Given the description of an element on the screen output the (x, y) to click on. 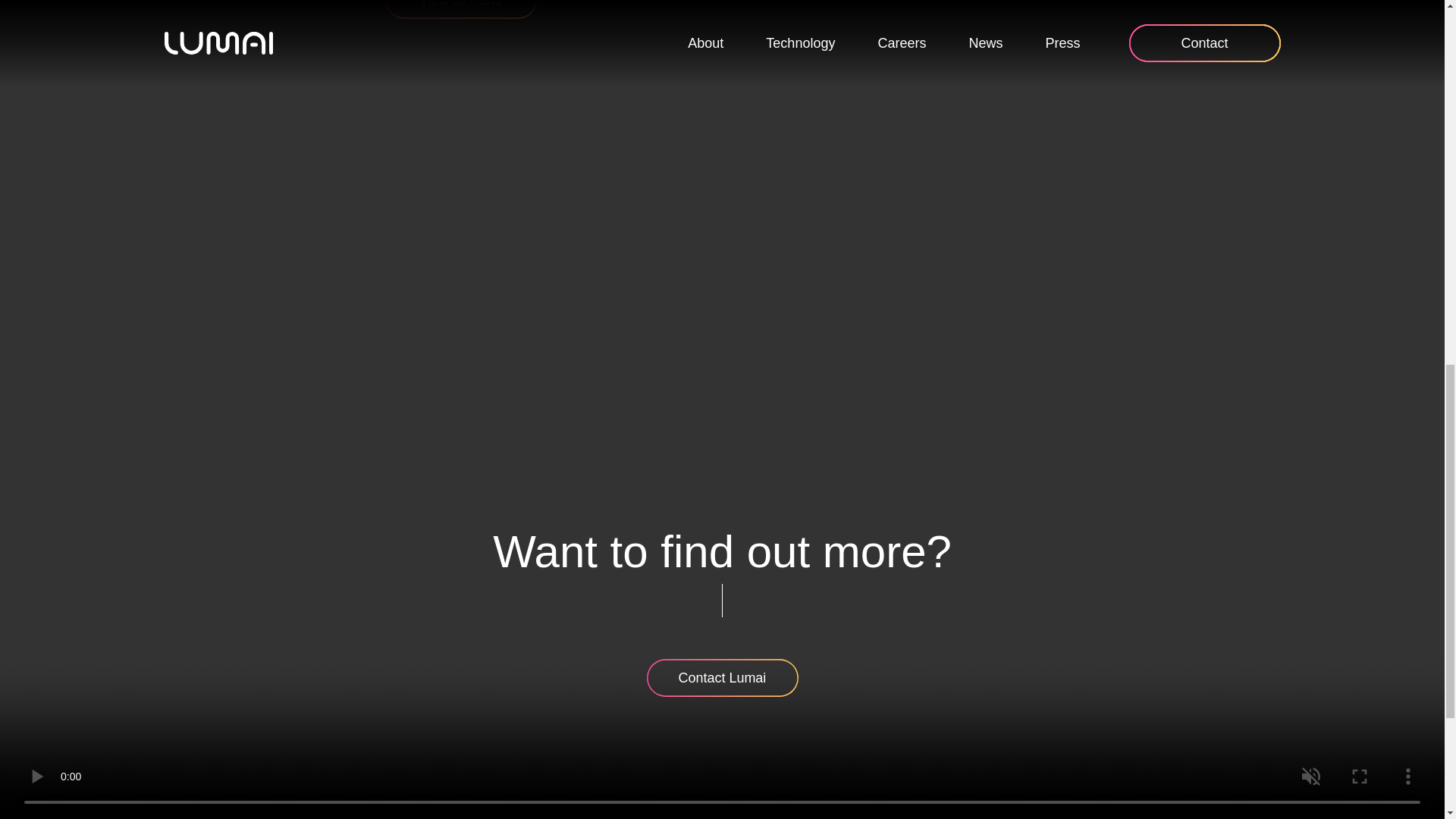
Contact Lumai (721, 677)
View all news (461, 9)
View all news (461, 9)
Contact Lumai (721, 677)
